Given the description of an element on the screen output the (x, y) to click on. 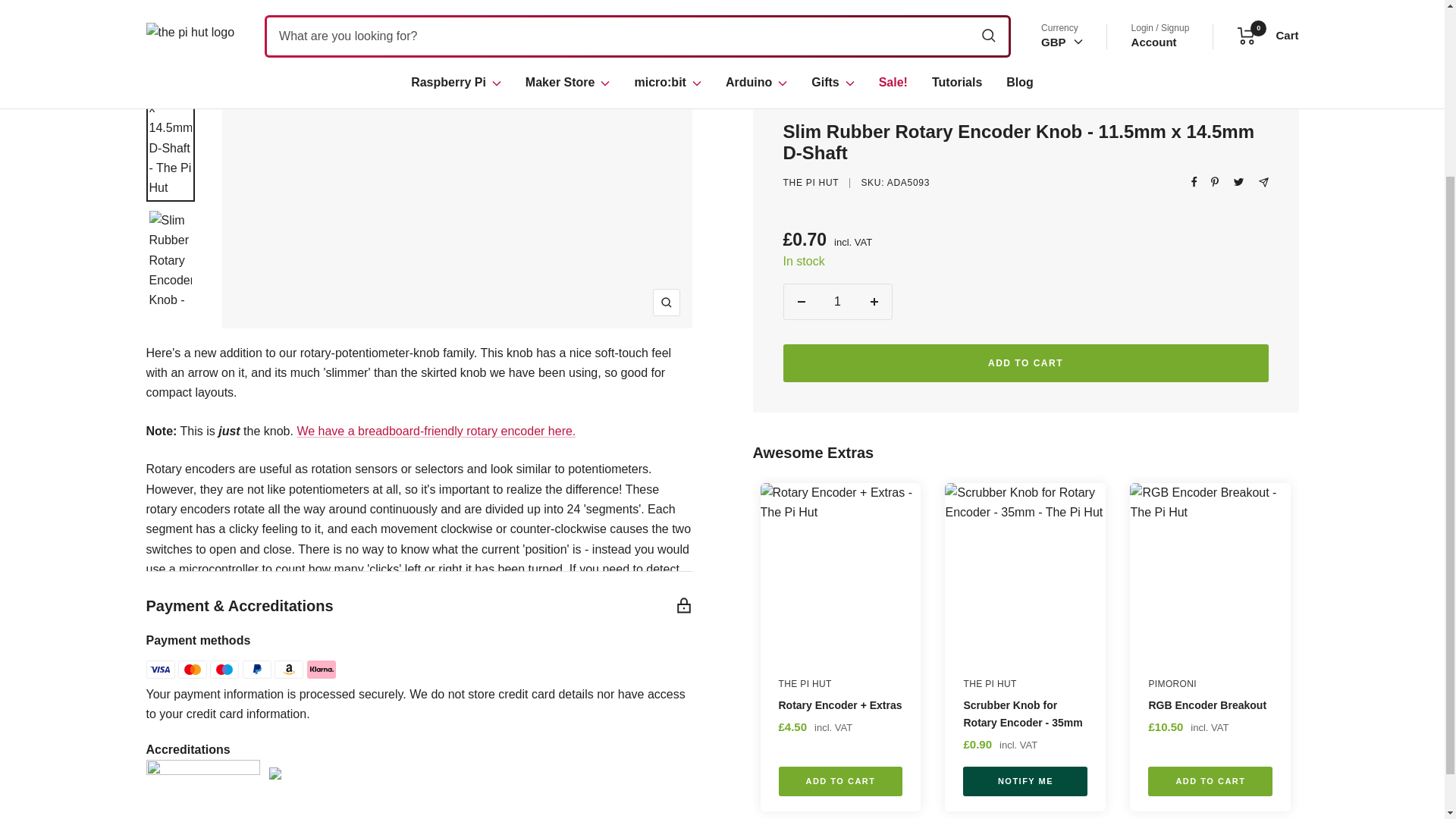
Visa (159, 669)
Mastercard (191, 669)
1 (837, 185)
Maestro (223, 669)
